Given the description of an element on the screen output the (x, y) to click on. 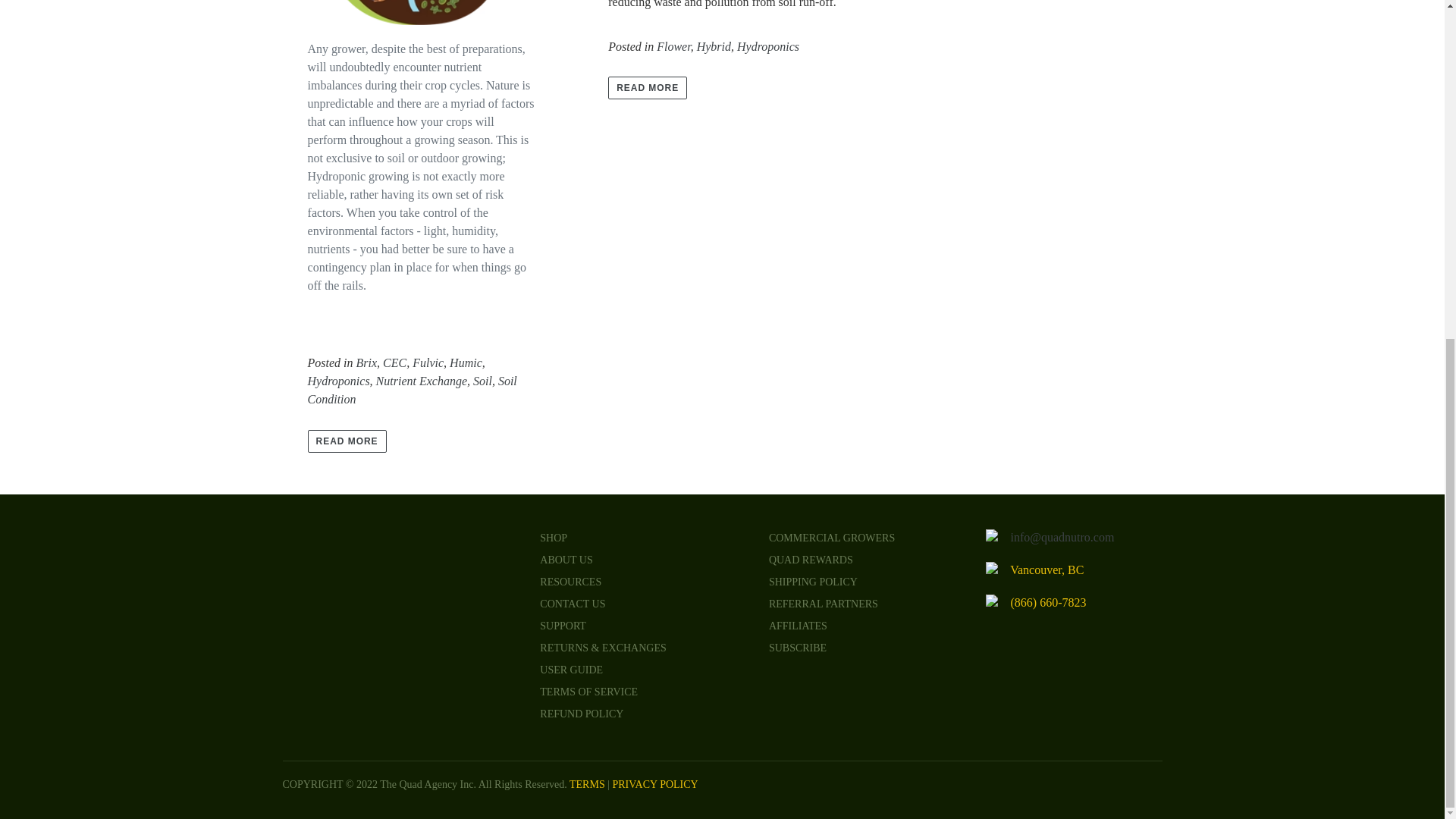
Soil (482, 381)
Hydroponics (338, 381)
Nutrient Exchange (421, 381)
Flower (673, 47)
Hybrid (713, 47)
READ MORE (347, 440)
Hydroponics (767, 47)
Fulvic (428, 363)
Humic (465, 363)
CEC (394, 363)
